Given the description of an element on the screen output the (x, y) to click on. 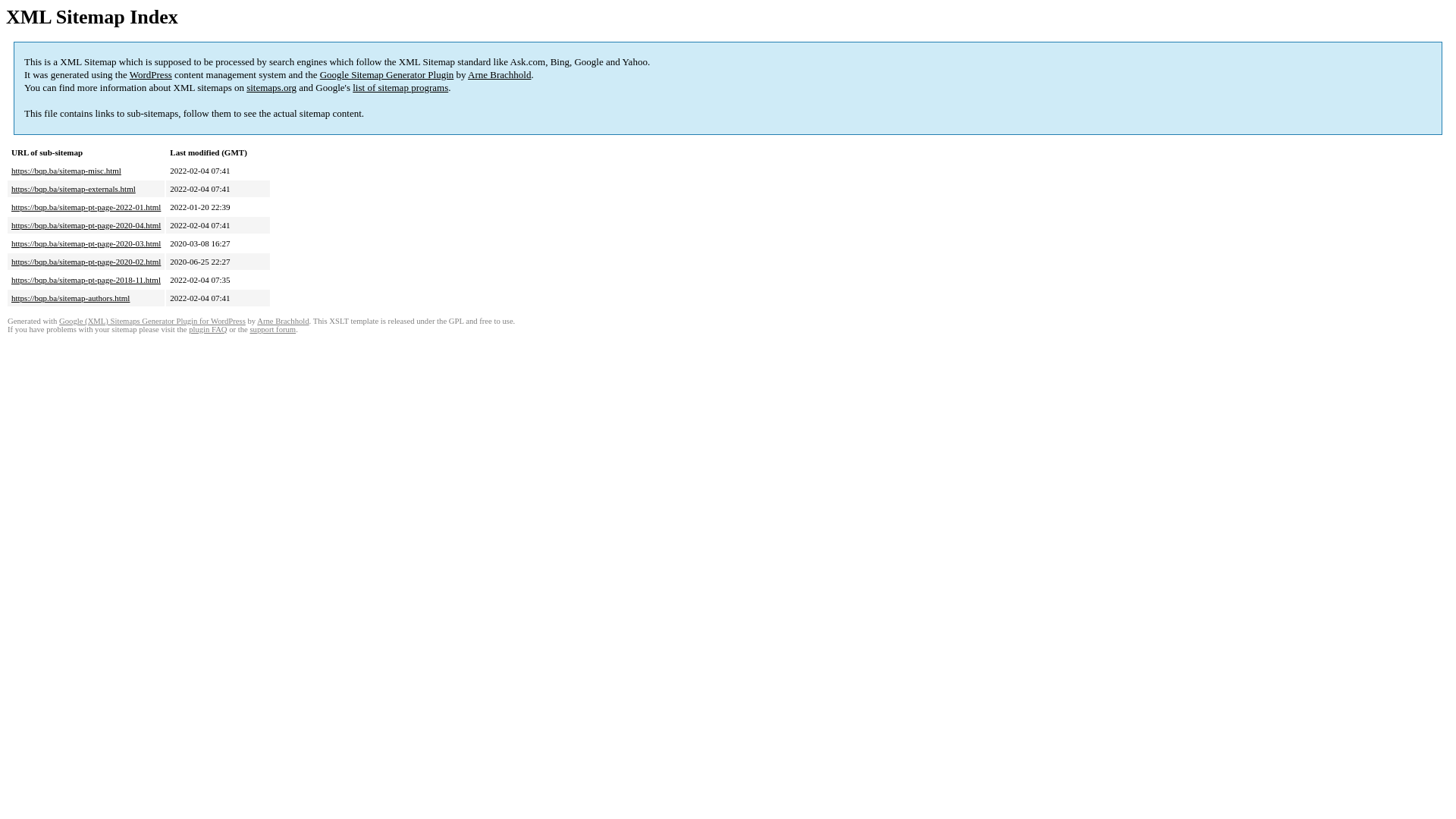
https://bqp.ba/sitemap-misc.html Element type: text (66, 170)
Google Sitemap Generator Plugin Element type: text (387, 74)
Arne Brachhold Element type: text (498, 74)
https://bqp.ba/sitemap-authors.html Element type: text (70, 297)
Google (XML) Sitemaps Generator Plugin for WordPress Element type: text (152, 320)
https://bqp.ba/sitemap-pt-page-2020-03.html Element type: text (85, 242)
plugin FAQ Element type: text (207, 329)
WordPress Element type: text (150, 74)
https://bqp.ba/sitemap-pt-page-2020-02.html Element type: text (85, 261)
list of sitemap programs Element type: text (400, 87)
https://bqp.ba/sitemap-pt-page-2020-04.html Element type: text (85, 224)
support forum Element type: text (272, 329)
Arne Brachhold Element type: text (282, 320)
sitemaps.org Element type: text (271, 87)
https://bqp.ba/sitemap-externals.html Element type: text (73, 188)
https://bqp.ba/sitemap-pt-page-2022-01.html Element type: text (85, 206)
https://bqp.ba/sitemap-pt-page-2018-11.html Element type: text (85, 279)
